Given the description of an element on the screen output the (x, y) to click on. 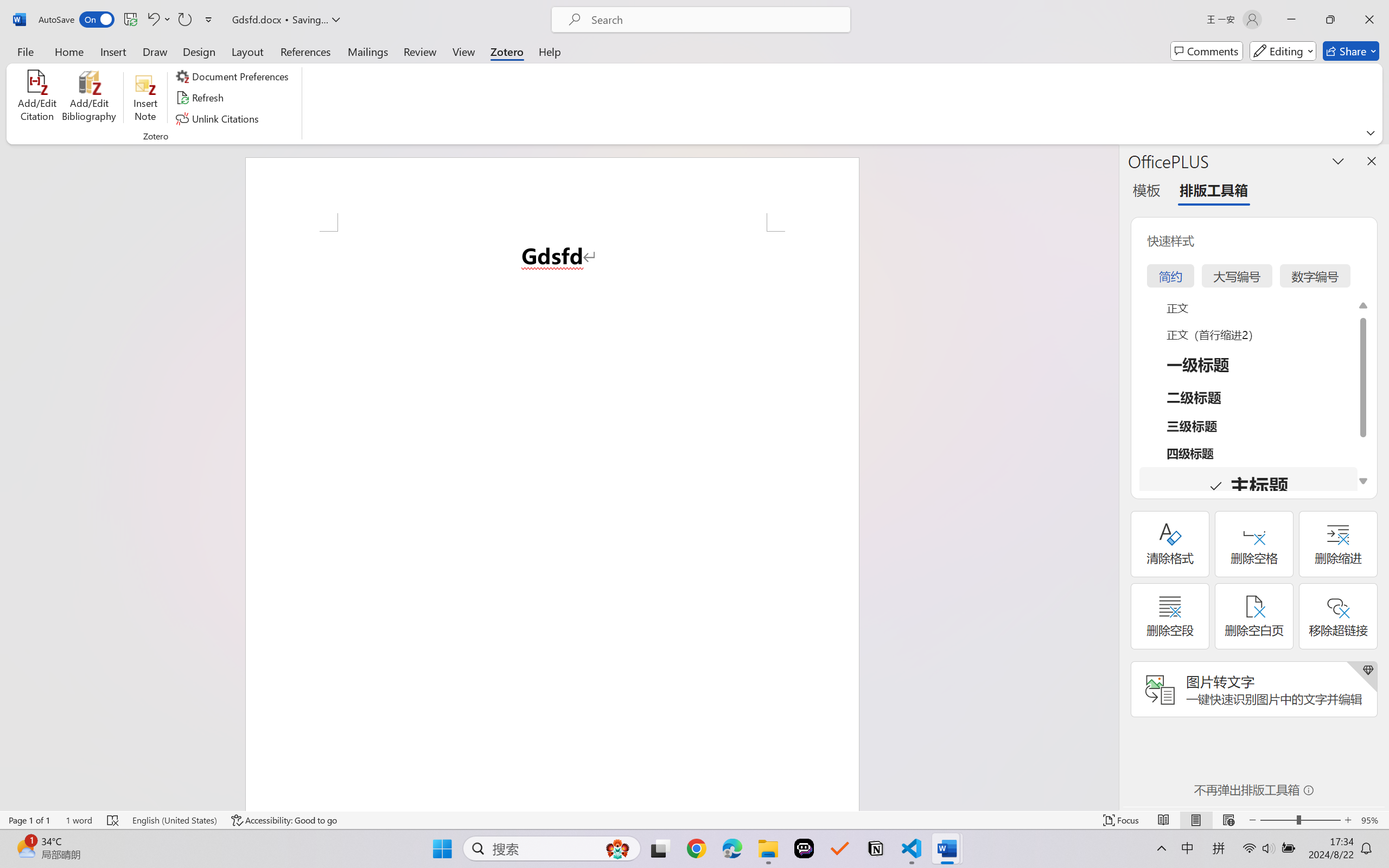
Document Preferences (233, 75)
Repeat Style (184, 19)
Page 1 content (552, 520)
